Given the description of an element on the screen output the (x, y) to click on. 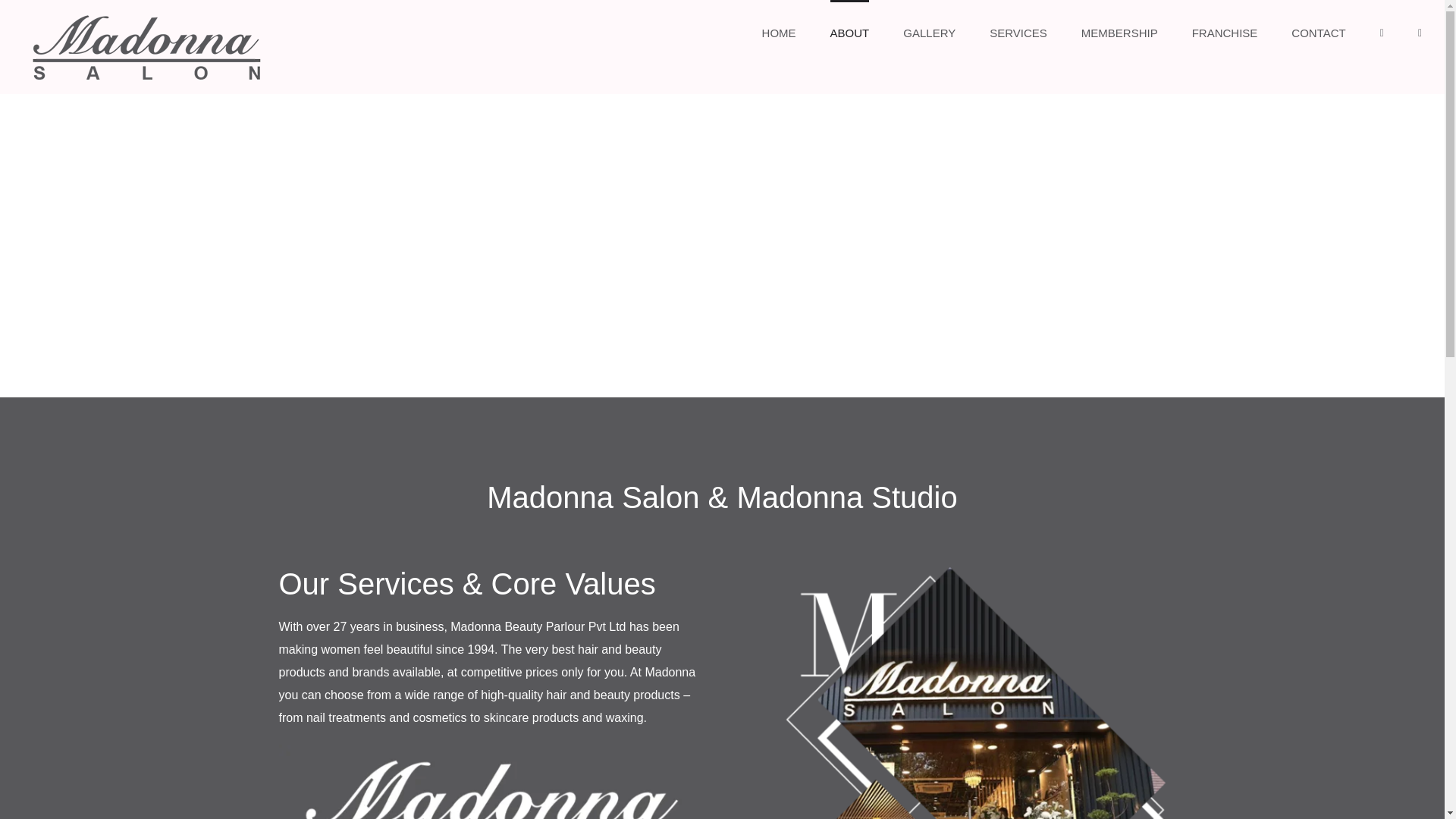
AboutUsCollarge (952, 693)
MEMBERSHIP (1119, 31)
FRANCHISE (1224, 31)
SERVICES (1018, 31)
Madonna-Studio-logo (491, 781)
